Given the description of an element on the screen output the (x, y) to click on. 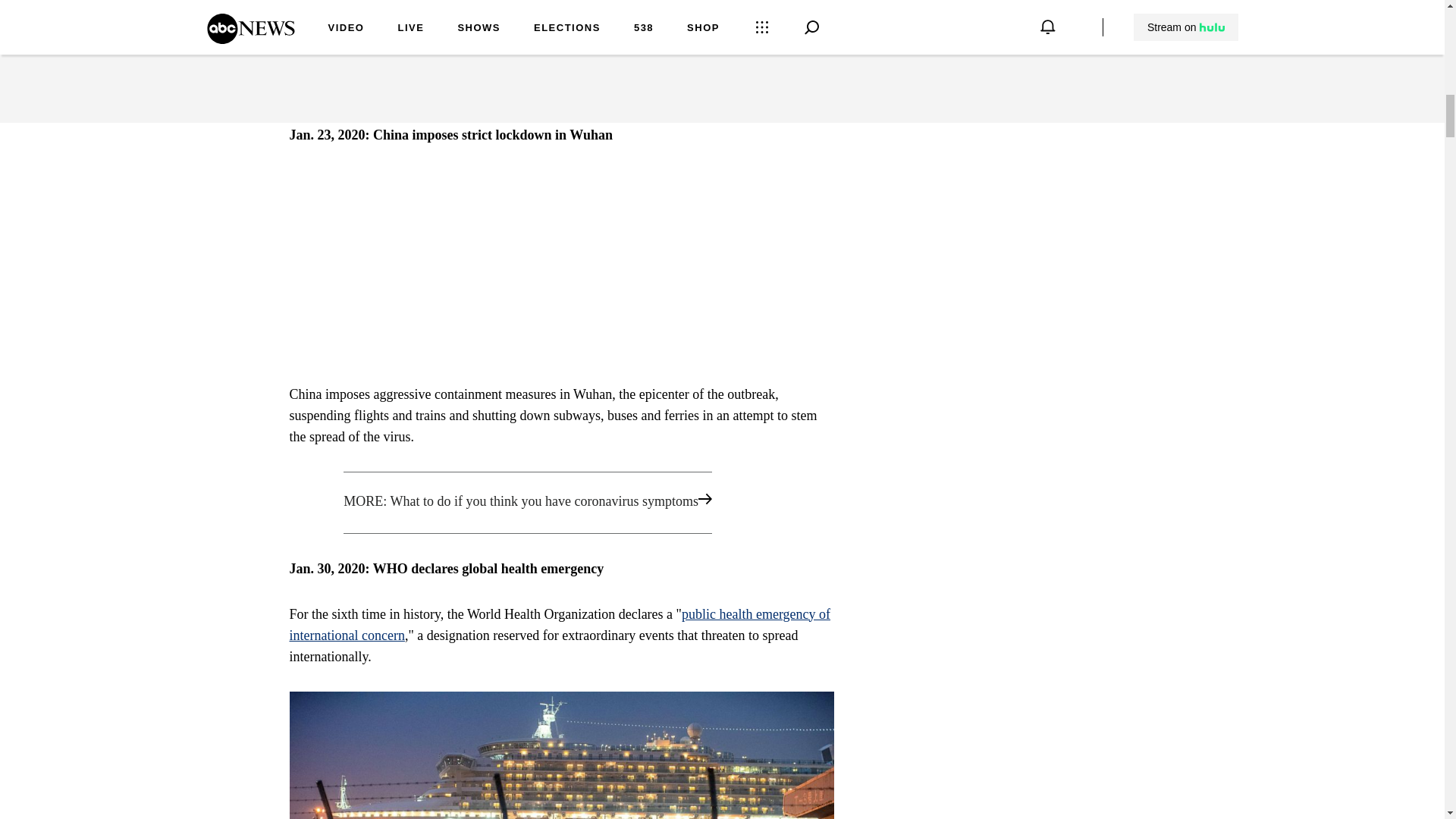
MORE: What to do if you think you have coronavirus symptoms (560, 502)
public health emergency of international concern (560, 624)
